Given the description of an element on the screen output the (x, y) to click on. 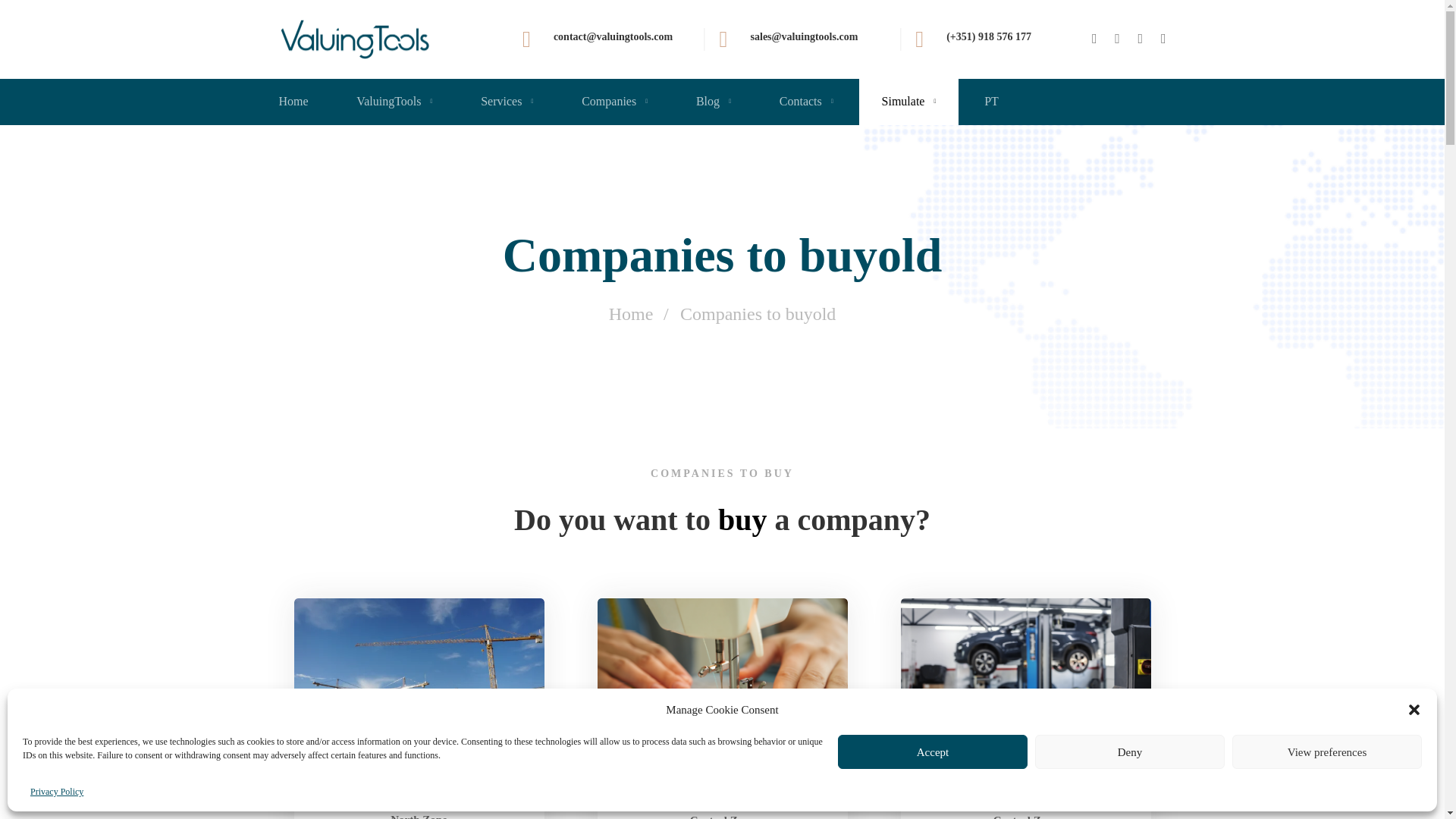
Blog (713, 101)
ValuingTools (393, 101)
Contacts (806, 101)
Services (507, 101)
Accept (932, 751)
Deny (1129, 751)
Privacy Policy (56, 791)
Companies (614, 101)
Home (305, 101)
View preferences (1326, 751)
Simulate (909, 101)
